Given the description of an element on the screen output the (x, y) to click on. 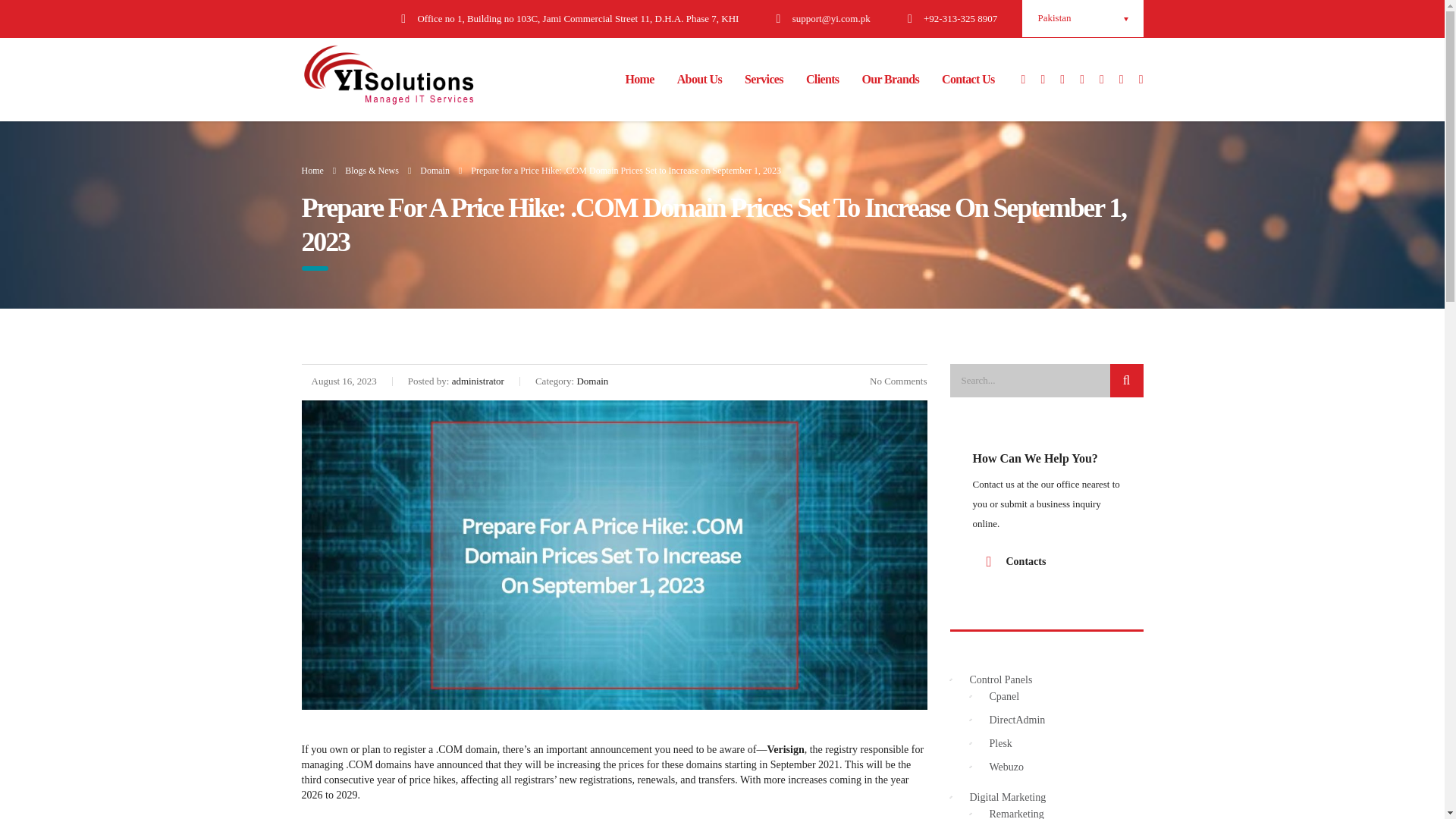
About Us (699, 79)
Need Help (1016, 561)
Services (763, 79)
Home (638, 79)
Go to the Domain category archives. (434, 170)
